Given the description of an element on the screen output the (x, y) to click on. 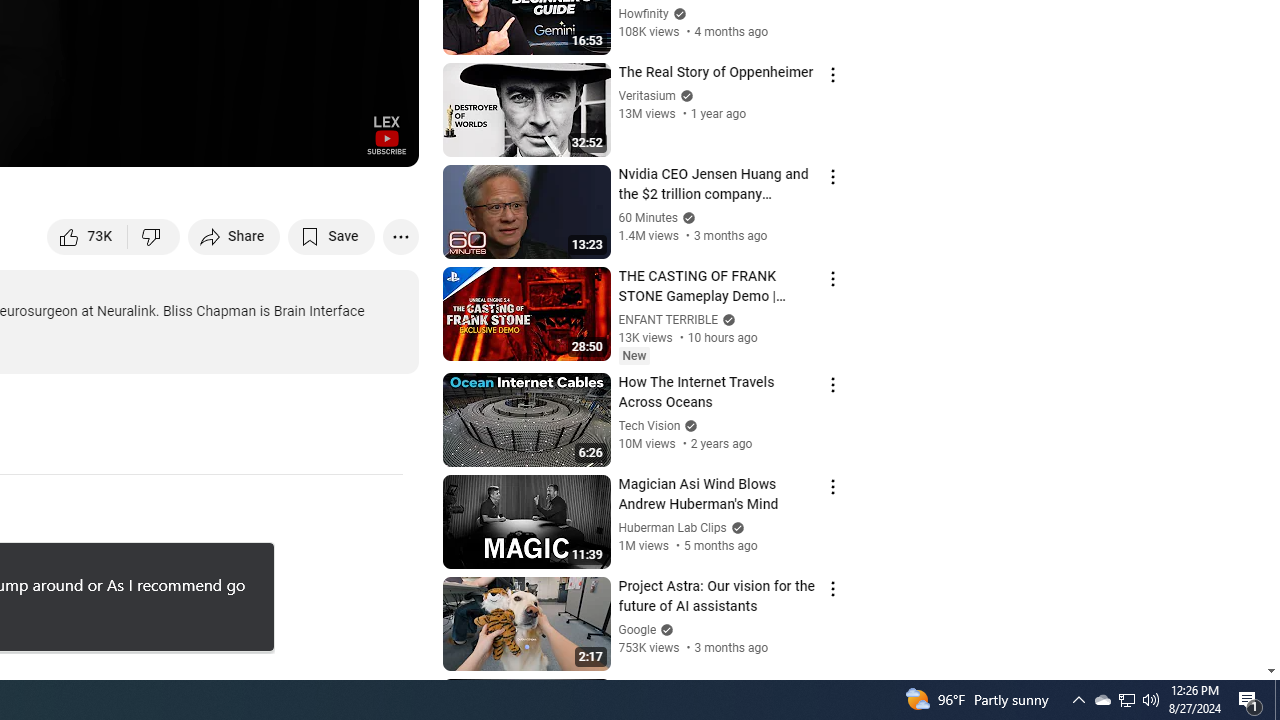
Subtitles/closed captions unavailable (190, 142)
More actions (399, 236)
Settings (237, 142)
Theater mode (t) (333, 142)
Share (234, 236)
Save to playlist (331, 236)
Full screen (f) (382, 142)
Channel watermark (386, 134)
Verified (664, 629)
Dislike this video (154, 236)
Miniplayer (i) (286, 142)
